Given the description of an element on the screen output the (x, y) to click on. 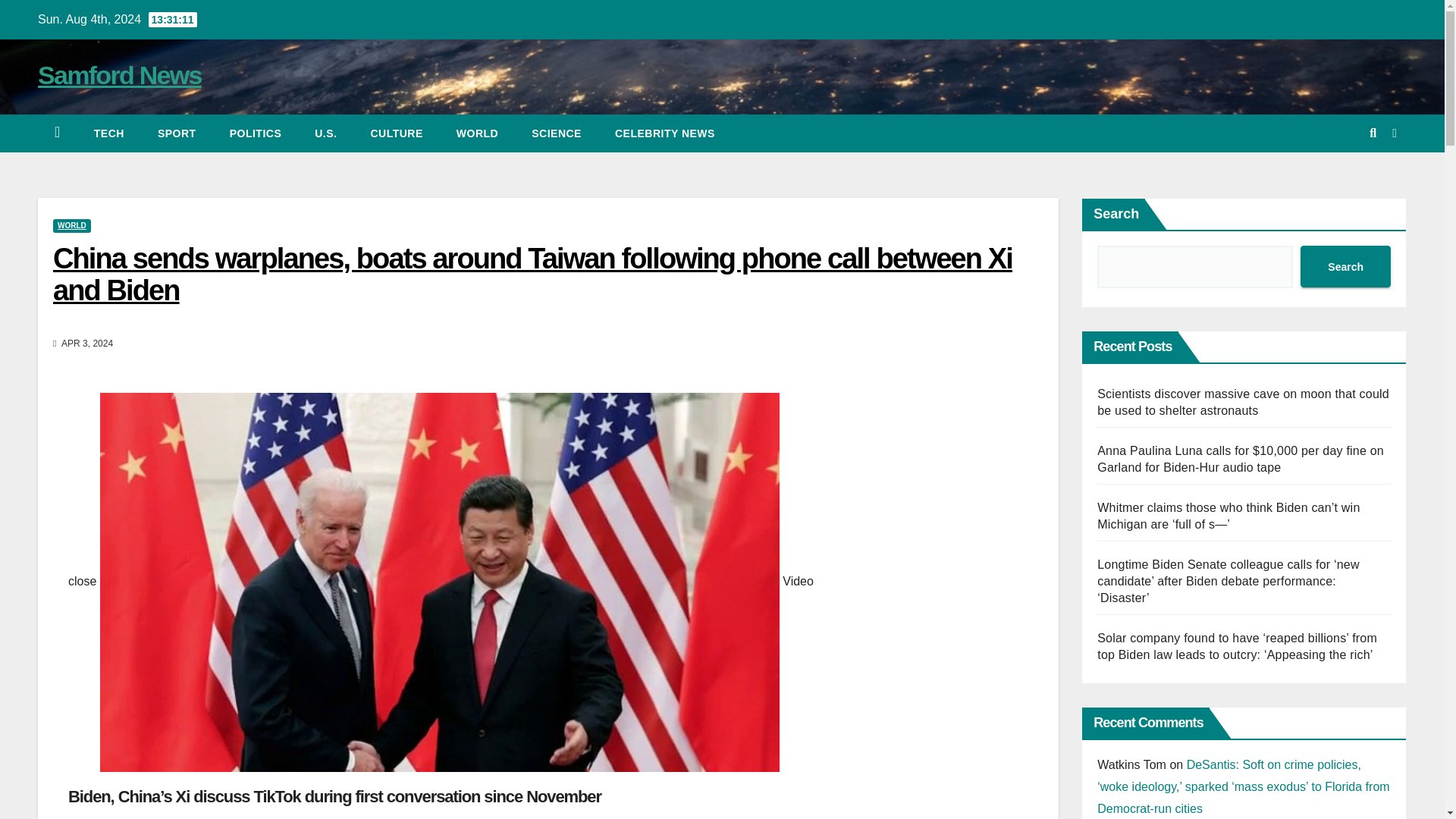
Sport (176, 133)
WORLD (477, 133)
Politics (255, 133)
Science (556, 133)
U.S. (325, 133)
Celebrity News (665, 133)
SPORT (176, 133)
Samford News (119, 74)
U.S. (325, 133)
Tech (109, 133)
WORLD (71, 225)
World (477, 133)
Culture (396, 133)
